Given the description of an element on the screen output the (x, y) to click on. 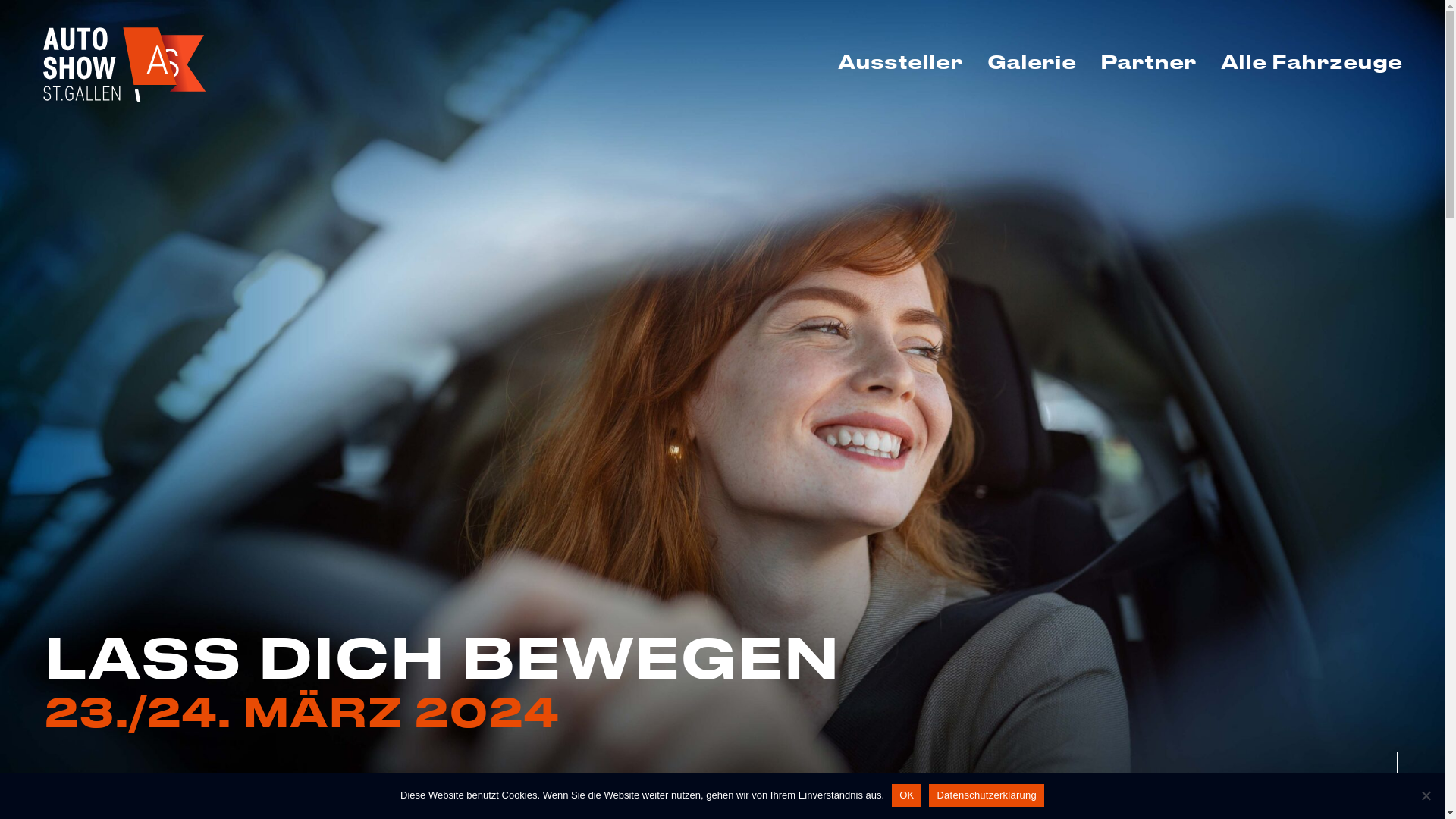
Partner Element type: text (1147, 61)
OK Element type: text (906, 795)
Galerie Element type: text (1031, 61)
Aussteller Element type: text (899, 61)
Alle Fahrzeuge Element type: text (1306, 61)
Nein Element type: hover (1425, 795)
